Given the description of an element on the screen output the (x, y) to click on. 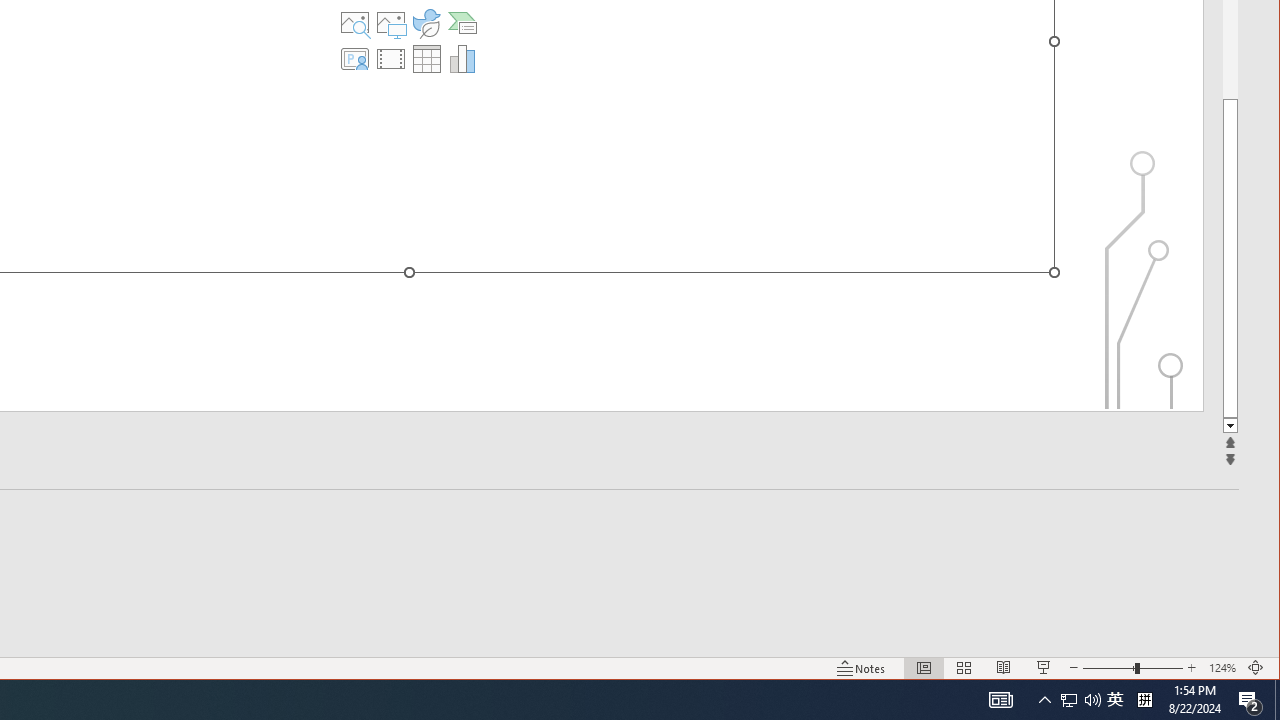
Pictures (391, 22)
Insert Cameo (355, 58)
Insert Video (391, 58)
Insert Chart (462, 58)
Insert Table (426, 58)
